Given the description of an element on the screen output the (x, y) to click on. 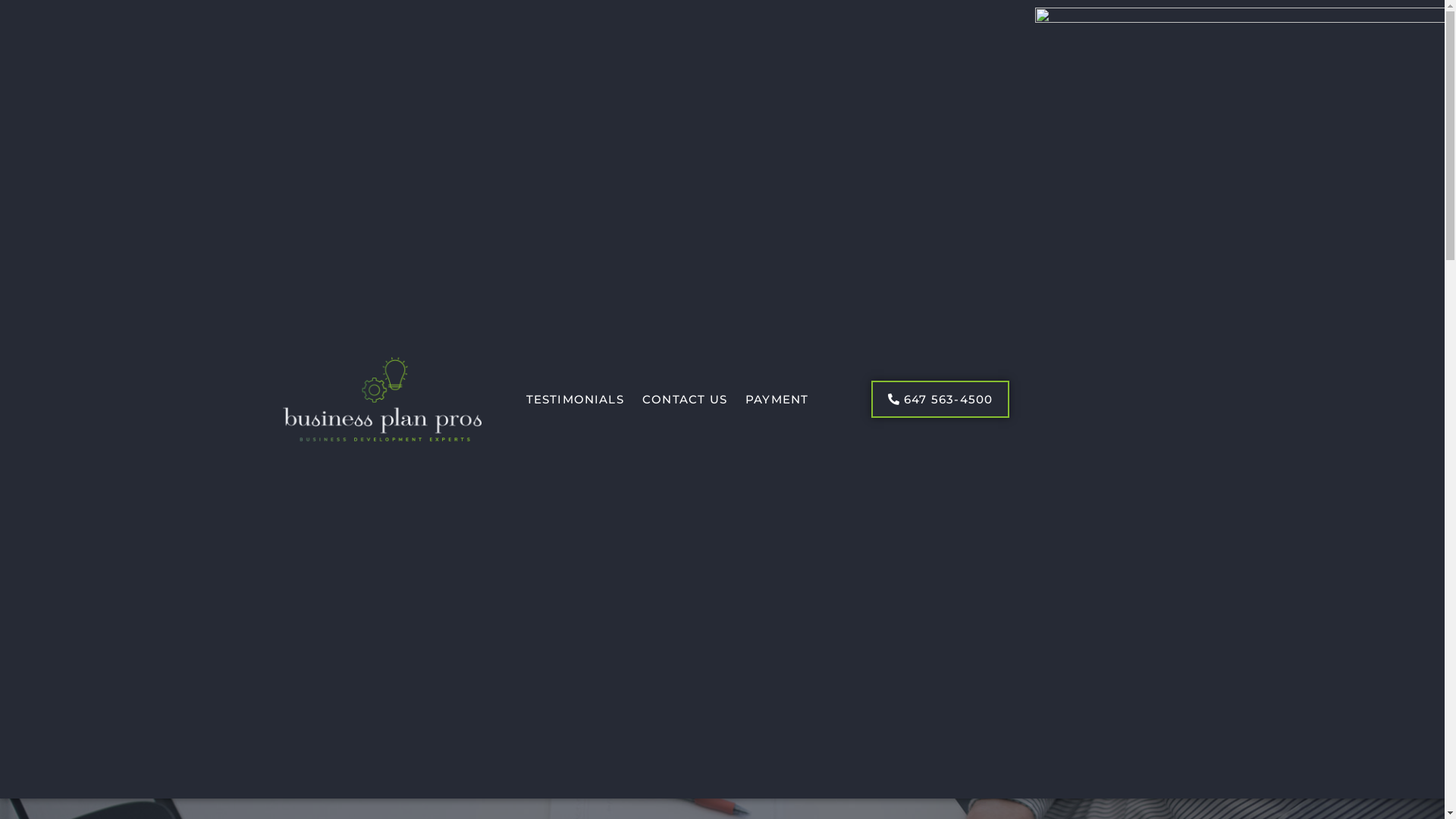
647 563-4500 Element type: text (940, 398)
CONTACT US Element type: text (684, 399)
PAYMENT Element type: text (776, 399)
TESTIMONIALS Element type: text (575, 399)
